Given the description of an element on the screen output the (x, y) to click on. 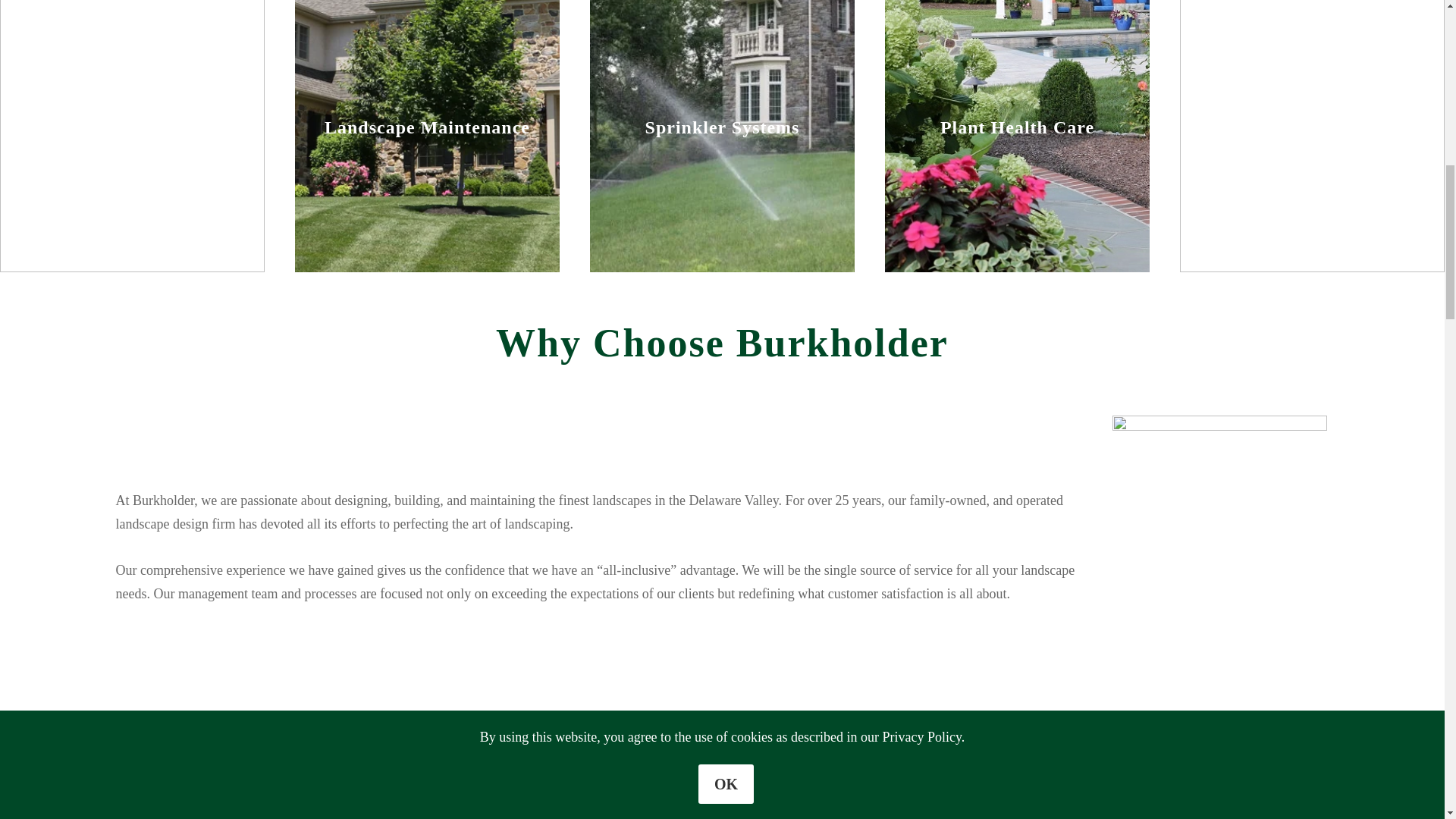
Sprinkler Systems (721, 135)
Landscape Maintenance (427, 135)
Award-Winning Design and Build (132, 135)
Plant Health Care (1017, 135)
